Given the description of an element on the screen output the (x, y) to click on. 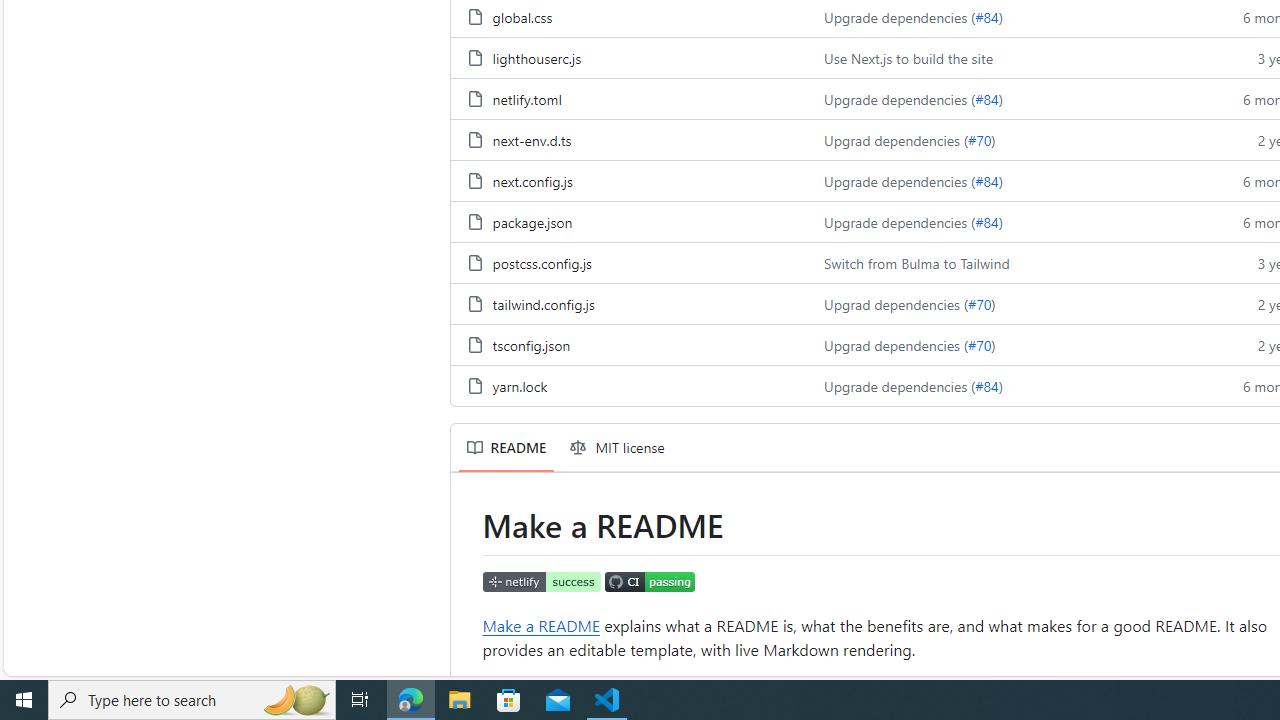
global.css, (File) (521, 17)
postcss.config.js, (File) (541, 262)
Permalink: Make a README (468, 525)
next-env.d.ts, (File) (531, 139)
CI status (649, 583)
yarn.lock, (File) (519, 385)
README (506, 447)
Switch from Bulma to Tailwind (916, 262)
Switch from Bulma to Tailwind (1008, 261)
Upgrad dependencies (#70) (1008, 344)
